Given the description of an element on the screen output the (x, y) to click on. 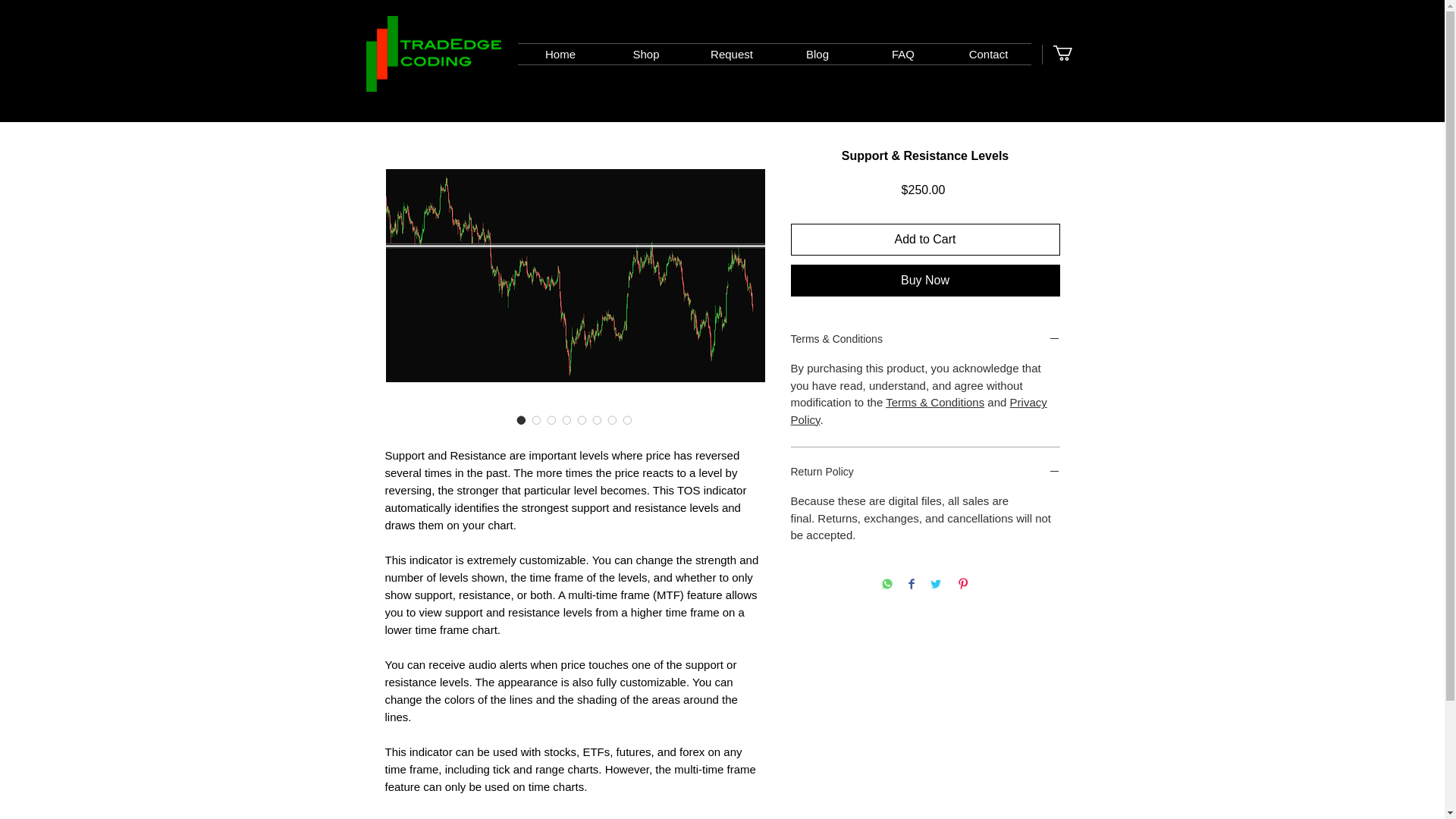
Blog (817, 54)
Request (731, 54)
FAQ (902, 54)
Buy Now (924, 280)
Return Policy (924, 472)
Contact (988, 54)
Privacy Policy (918, 410)
Add to Cart (924, 239)
Home (559, 54)
